Given the description of an element on the screen output the (x, y) to click on. 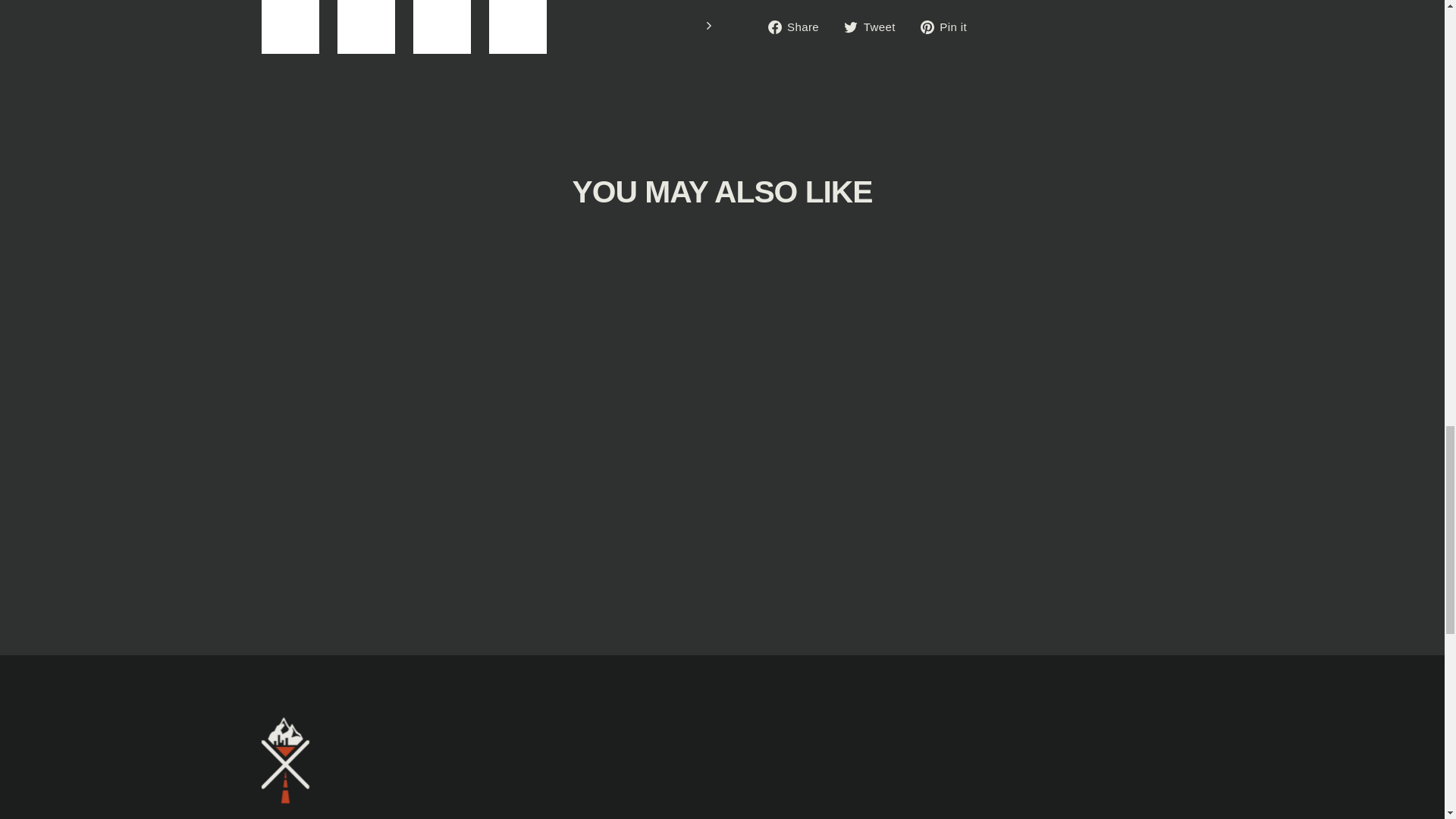
Tweet on Twitter (875, 26)
Pin on Pinterest (949, 26)
Share on Facebook (798, 26)
